Given the description of an element on the screen output the (x, y) to click on. 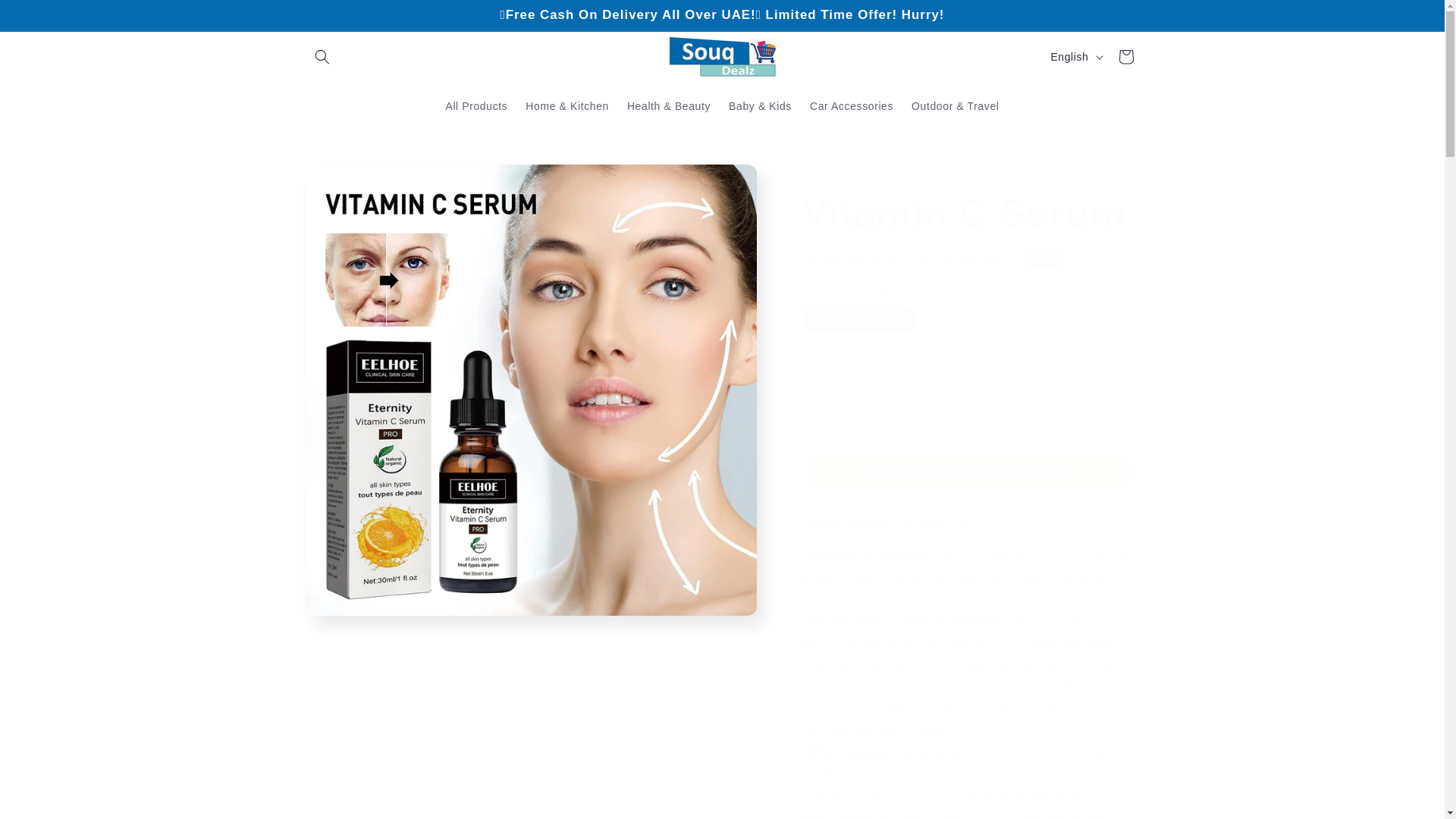
Skip to content (45, 17)
Increase quantity for Vitamin C Serum (891, 414)
1 (856, 414)
Decrease quantity for Vitamin C Serum (818, 414)
All Products (475, 106)
English (1074, 56)
Skip to product information (350, 181)
Cart (1124, 56)
Car Accessories (851, 106)
